Given the description of an element on the screen output the (x, y) to click on. 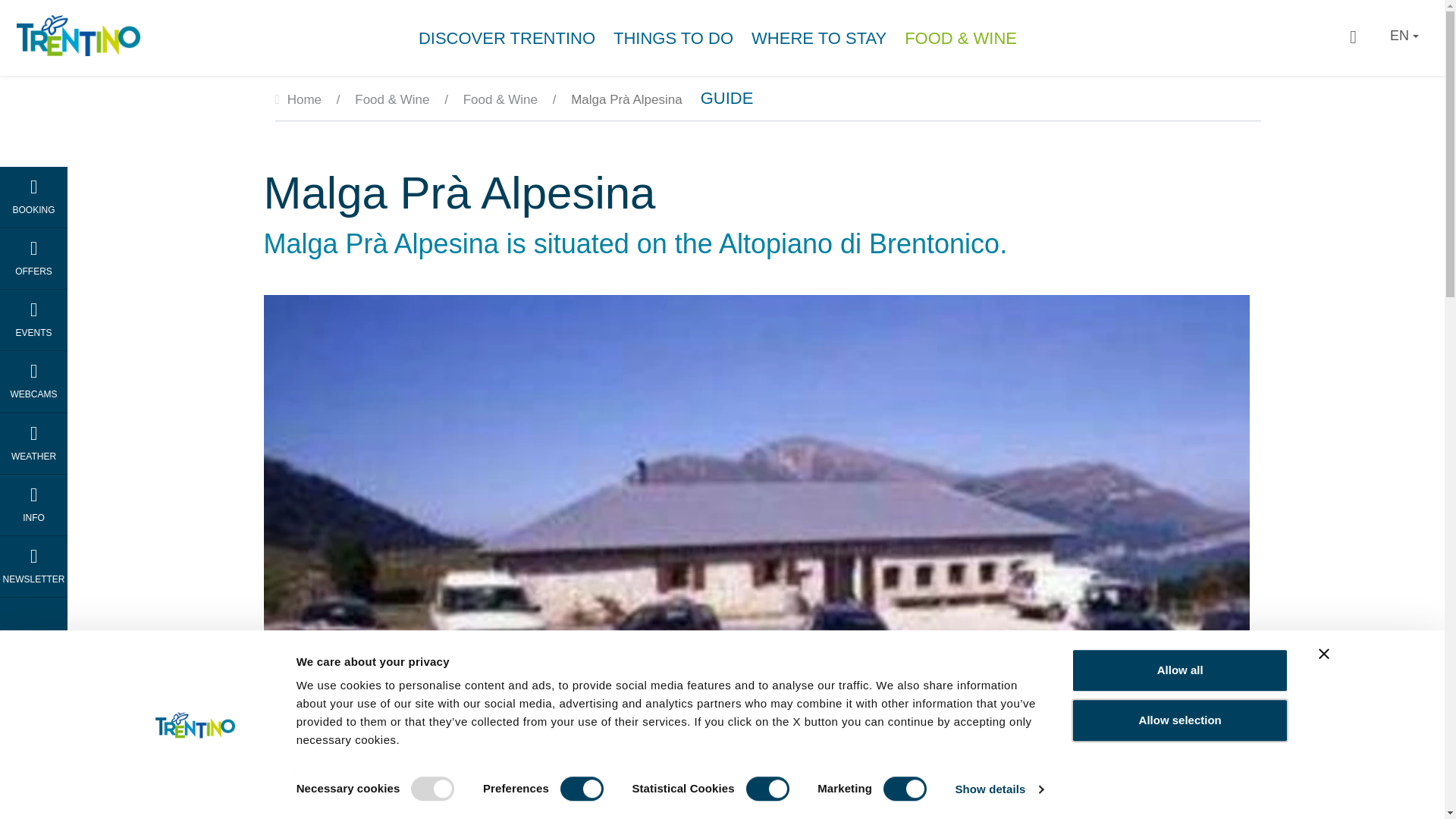
Allow all (1179, 670)
Show details (998, 789)
DISCOVER TRENTINO (511, 34)
Allow selection (1179, 720)
